Given the description of an element on the screen output the (x, y) to click on. 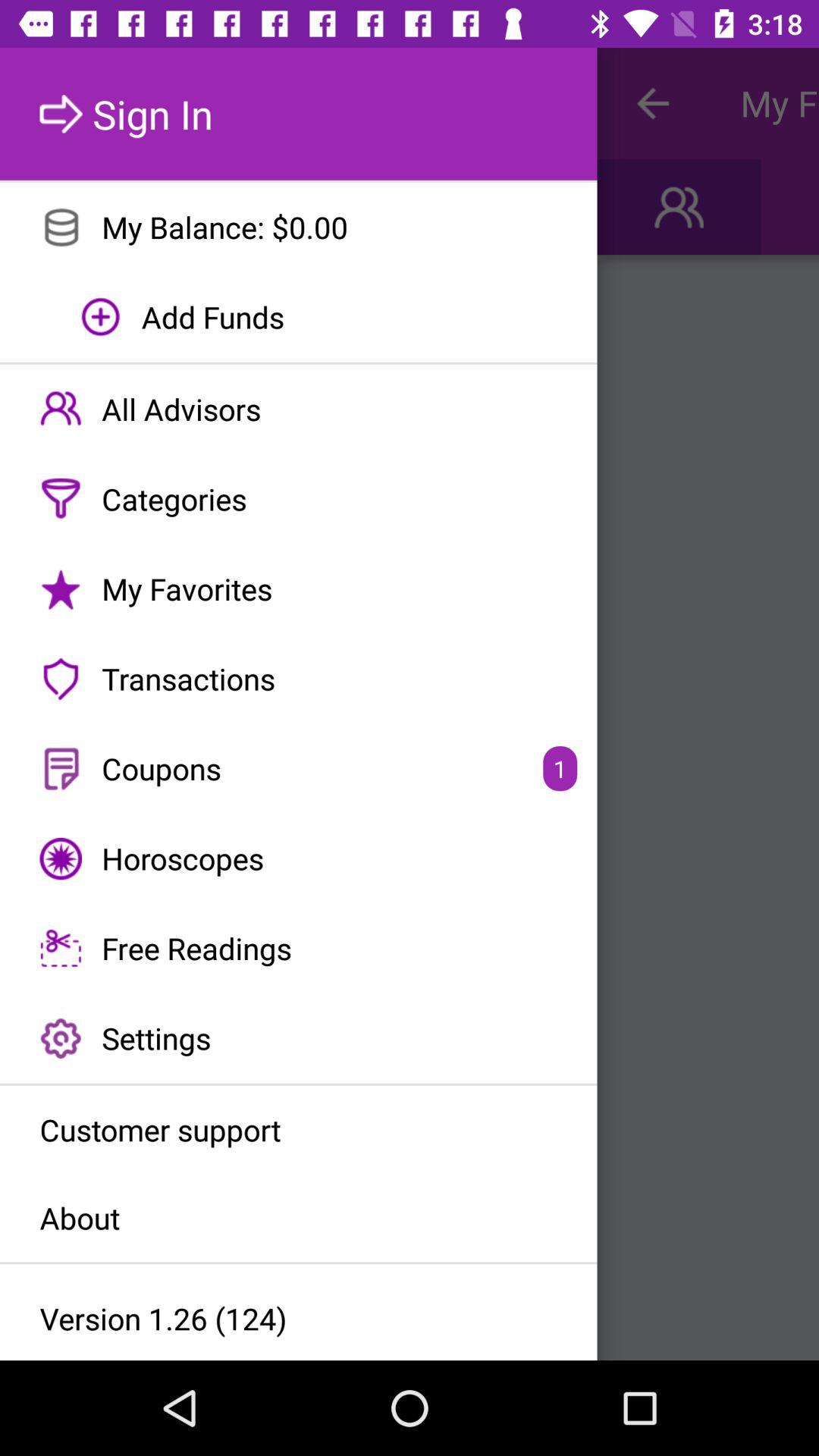
choose the icon below transactions (298, 768)
